Given the description of an element on the screen output the (x, y) to click on. 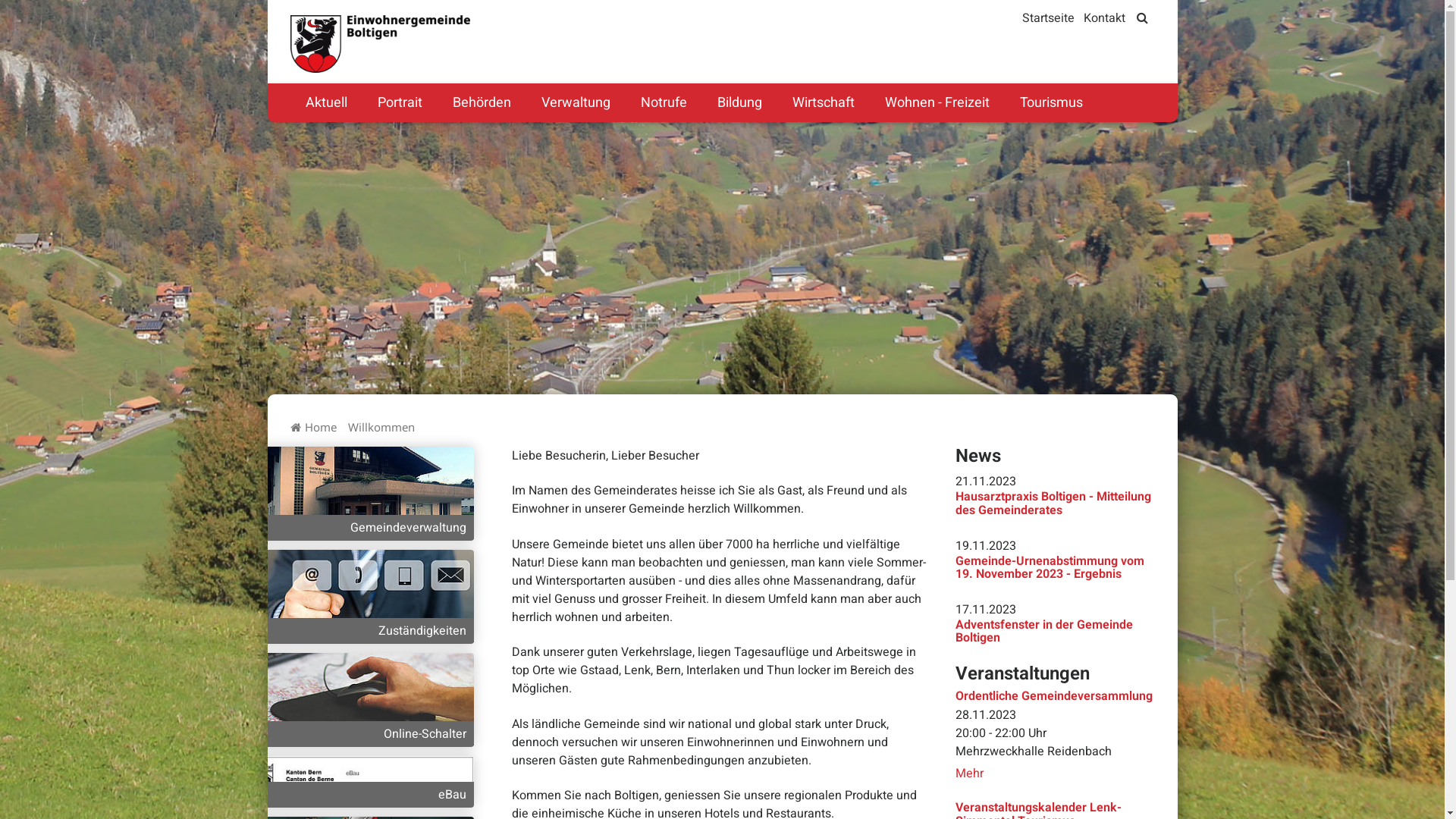
Notrufe Element type: text (662, 102)
Gemeinde-Urnenabstimmung vom 19. November 2023 - Ergebnis Element type: text (1049, 567)
Gemeinde Boltigen Element type: hover (354, 28)
Gemeinde Boltigen Element type: hover (379, 43)
Verwaltung Element type: text (575, 102)
Gemeindeverwaltung Boltigen Element type: hover (362, 492)
Ordentliche Gemeindeversammlung Element type: text (1053, 696)
Hausarztpraxis Boltigen - Mitteilung des Gemeinderates Element type: text (1053, 503)
Home Element type: text (320, 426)
Mehr Element type: text (969, 773)
Willkommen Element type: text (380, 426)
Wirtschaft Element type: text (822, 102)
Startseite Element type: text (1048, 17)
Kontakt Element type: text (1103, 17)
Bildung Element type: text (739, 102)
Online-Schalter Element type: hover (362, 698)
Aktuell Element type: text (325, 102)
Tourismus Element type: text (1050, 102)
Gemeindeverwaltung Boltigen Element type: hover (362, 492)
Online-Schalter Element type: hover (362, 698)
eBau Element type: hover (362, 781)
Wohnen - Freizeit Element type: text (936, 102)
Portrait Element type: text (399, 102)
eBau Element type: text (362, 794)
Gemeindeverwaltung Element type: text (362, 527)
Adventsfenster in der Gemeinde Boltigen Element type: text (1043, 631)
Online-Schalter Element type: text (362, 733)
